Given the description of an element on the screen output the (x, y) to click on. 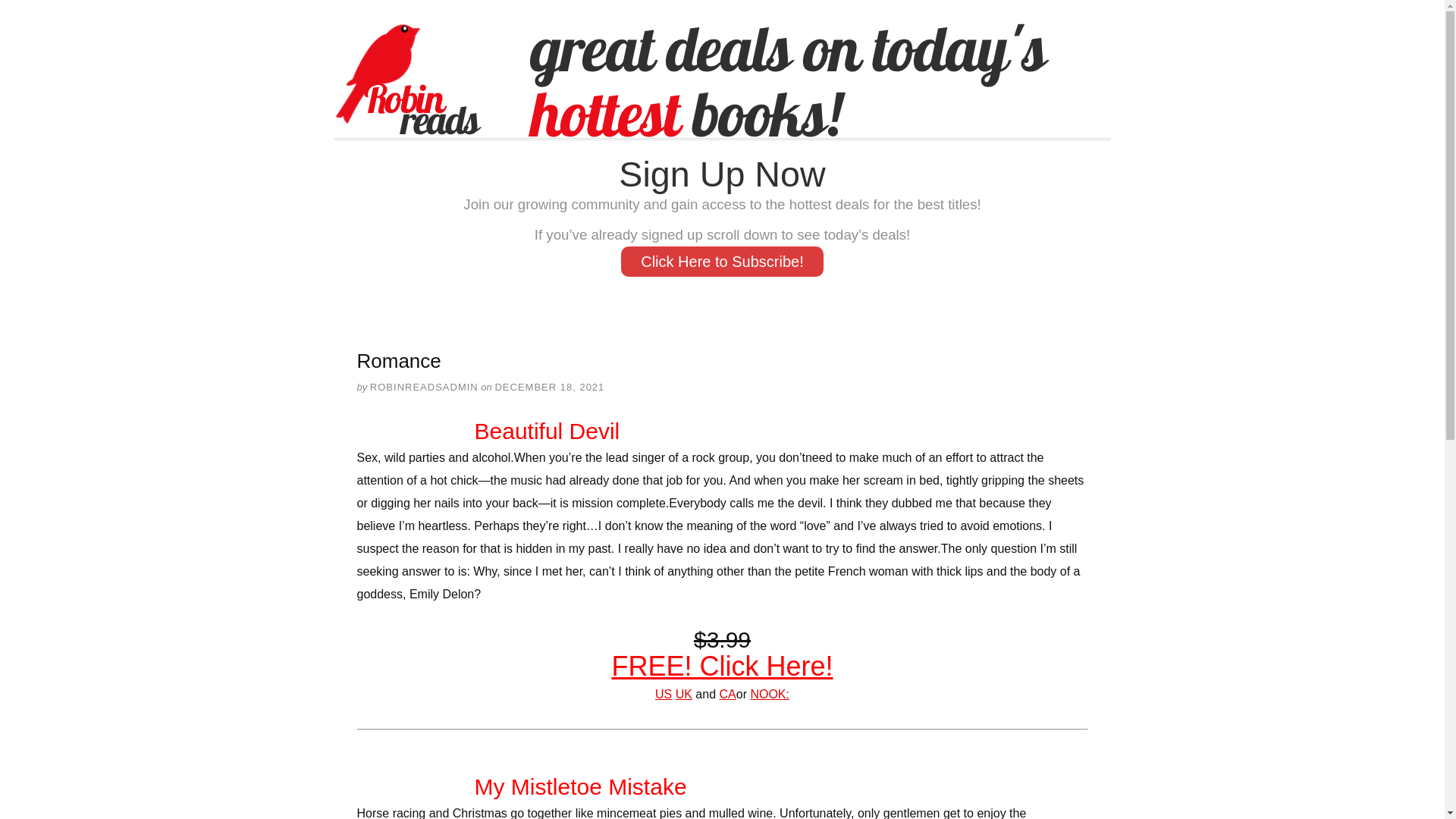
FREE! Click Here! (721, 665)
NOOK: (769, 694)
UK (684, 694)
CA (727, 694)
Click Here to Subscribe! (722, 261)
2021-12-18 (549, 387)
US (663, 694)
